Given the description of an element on the screen output the (x, y) to click on. 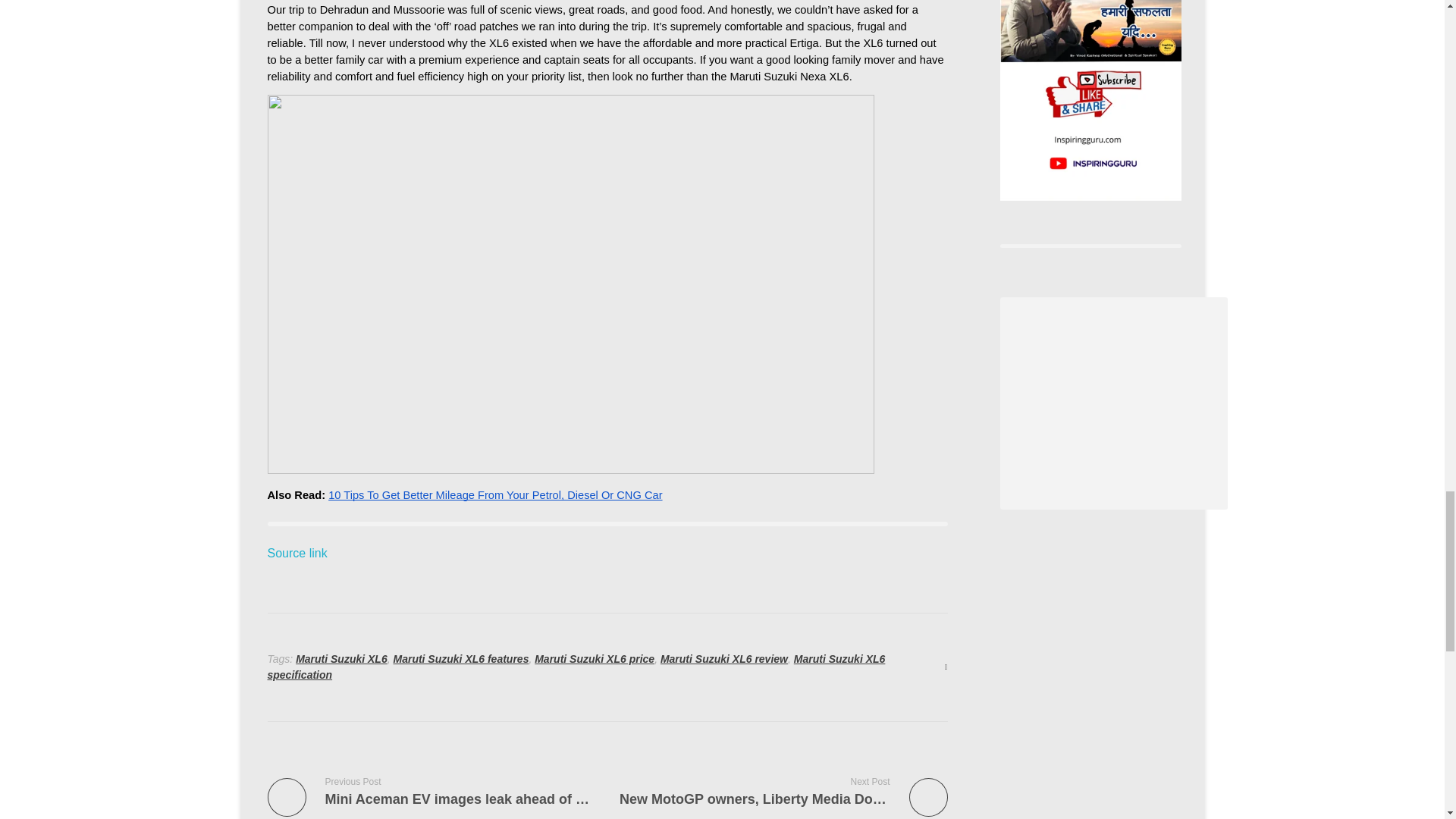
Maruti Suzuki XL6 price (593, 658)
Maruti Suzuki XL6 specification (575, 666)
Maruti Suzuki XL6 (783, 790)
Maruti Suzuki XL6 review (341, 658)
Maruti Suzuki XL6 features (724, 658)
Source link (460, 658)
